Given the description of an element on the screen output the (x, y) to click on. 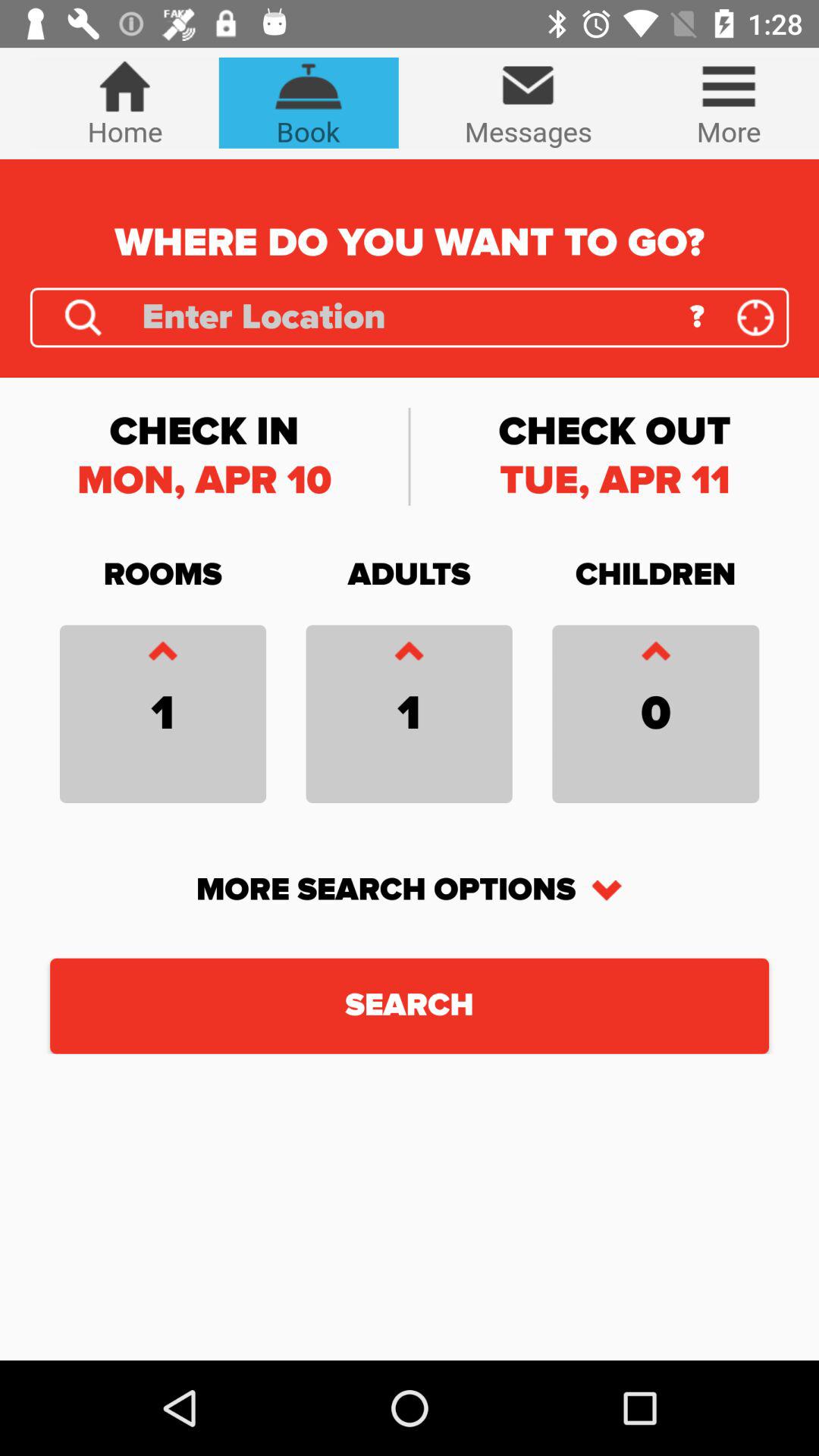
press the icon above the check out icon (755, 317)
